Given the description of an element on the screen output the (x, y) to click on. 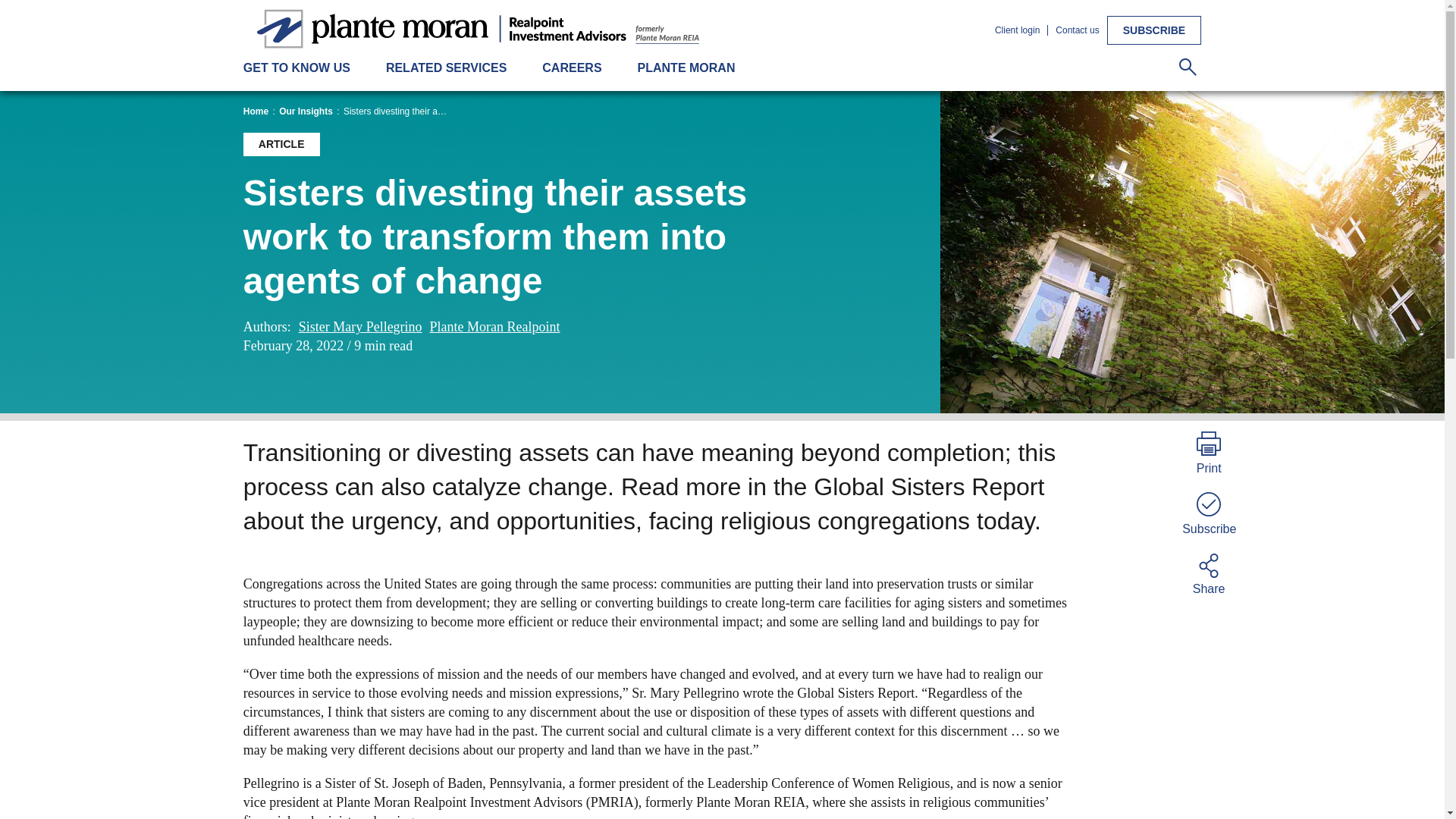
Contact us (1077, 30)
Subscribe (1208, 511)
Print (1208, 450)
Our Insights (306, 111)
Home (255, 111)
Share (1208, 572)
Subscribe Now (1153, 30)
Client Login (1016, 30)
Sister Mary Pellegrino (360, 326)
SUBSCRIBE (1153, 30)
Plante Moran Realpoint (494, 326)
Client login (1016, 30)
Contact us (1077, 30)
